Given the description of an element on the screen output the (x, y) to click on. 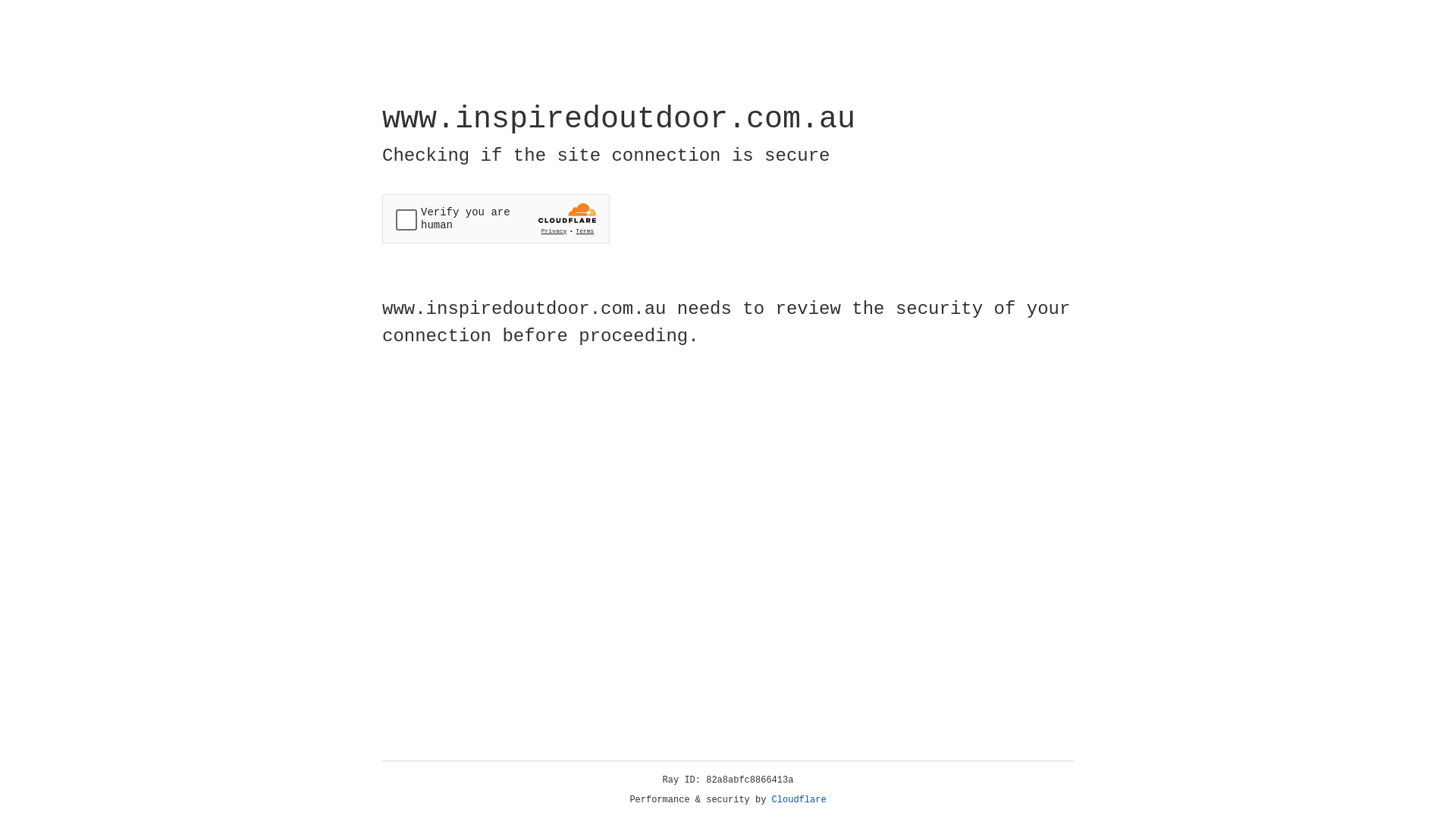
Cloudflare Element type: text (798, 799)
Widget containing a Cloudflare security challenge Element type: hover (495, 218)
